Given the description of an element on the screen output the (x, y) to click on. 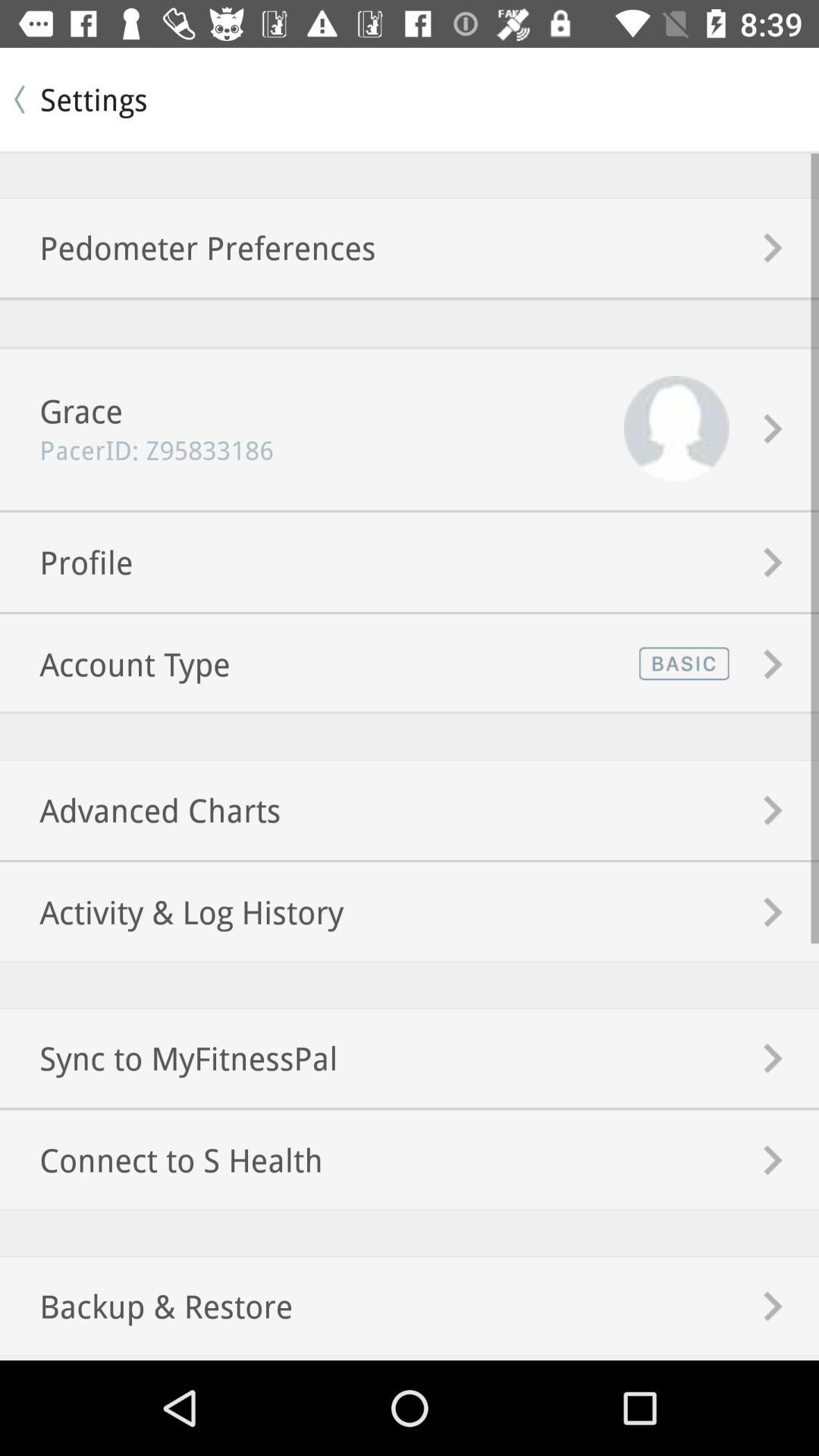
turn on activity & log history (171, 911)
